Given the description of an element on the screen output the (x, y) to click on. 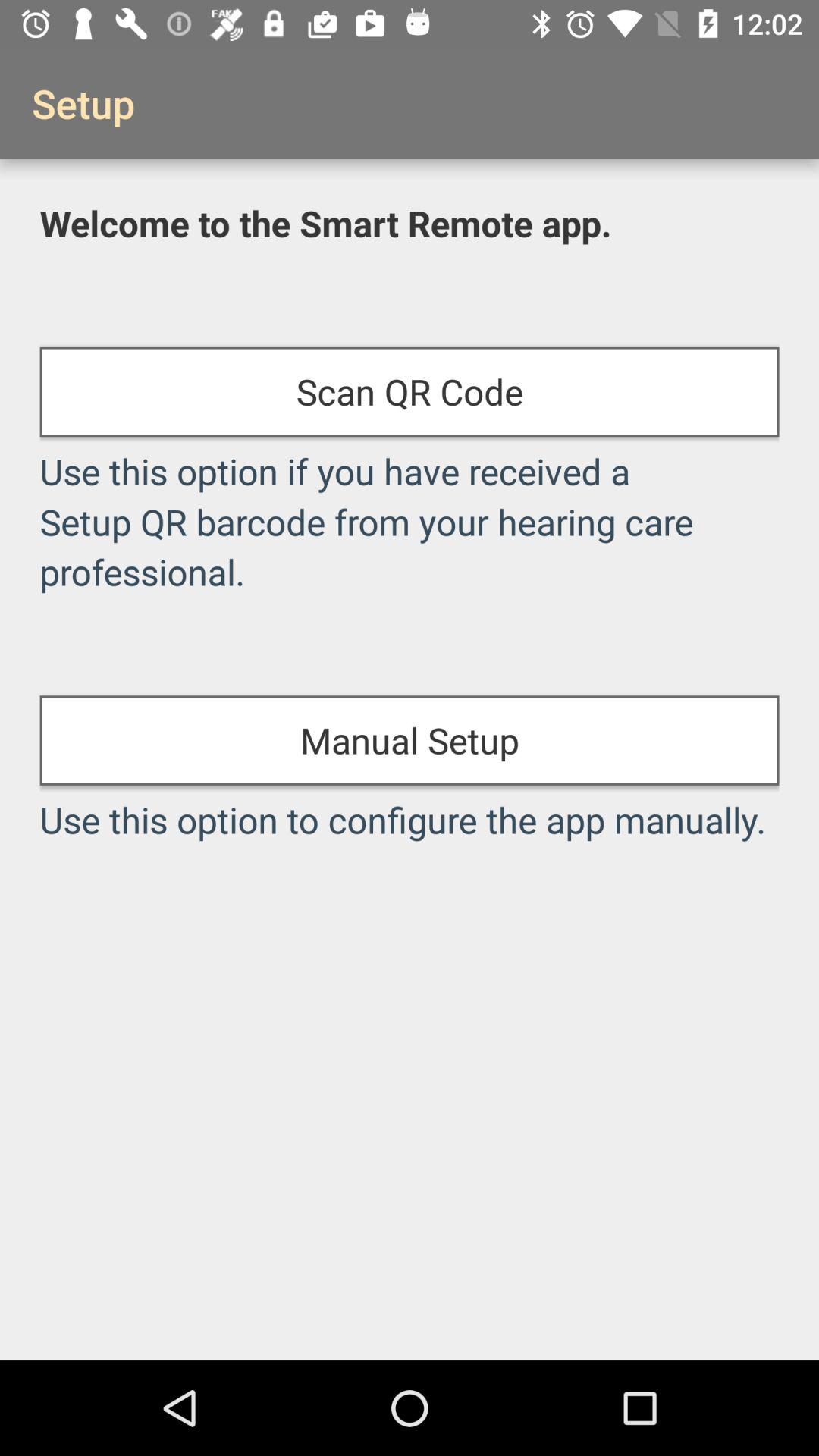
tap the icon below welcome to the item (409, 391)
